Given the description of an element on the screen output the (x, y) to click on. 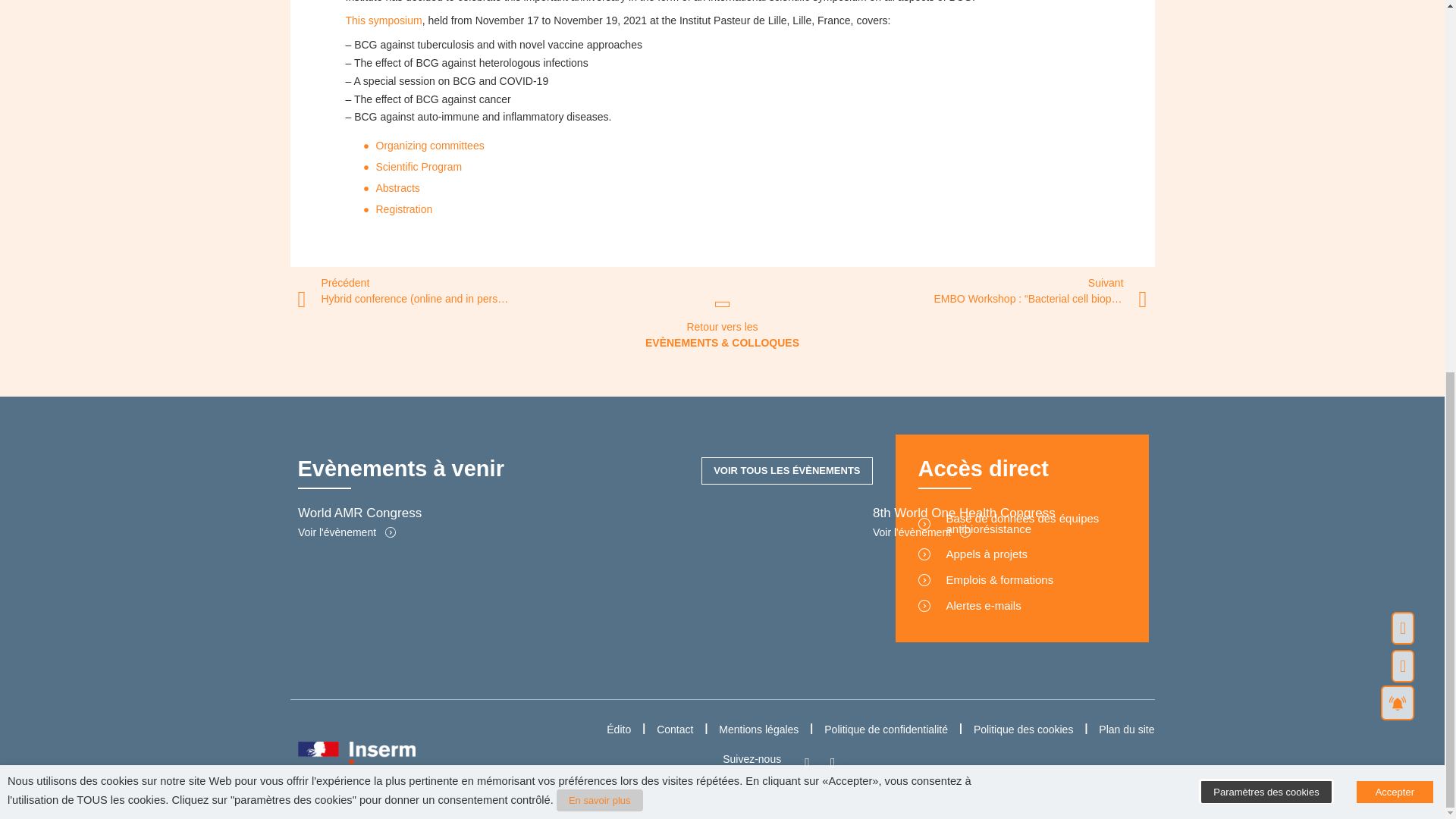
Organizing committees (429, 145)
This symposium (384, 20)
